Given the description of an element on the screen output the (x, y) to click on. 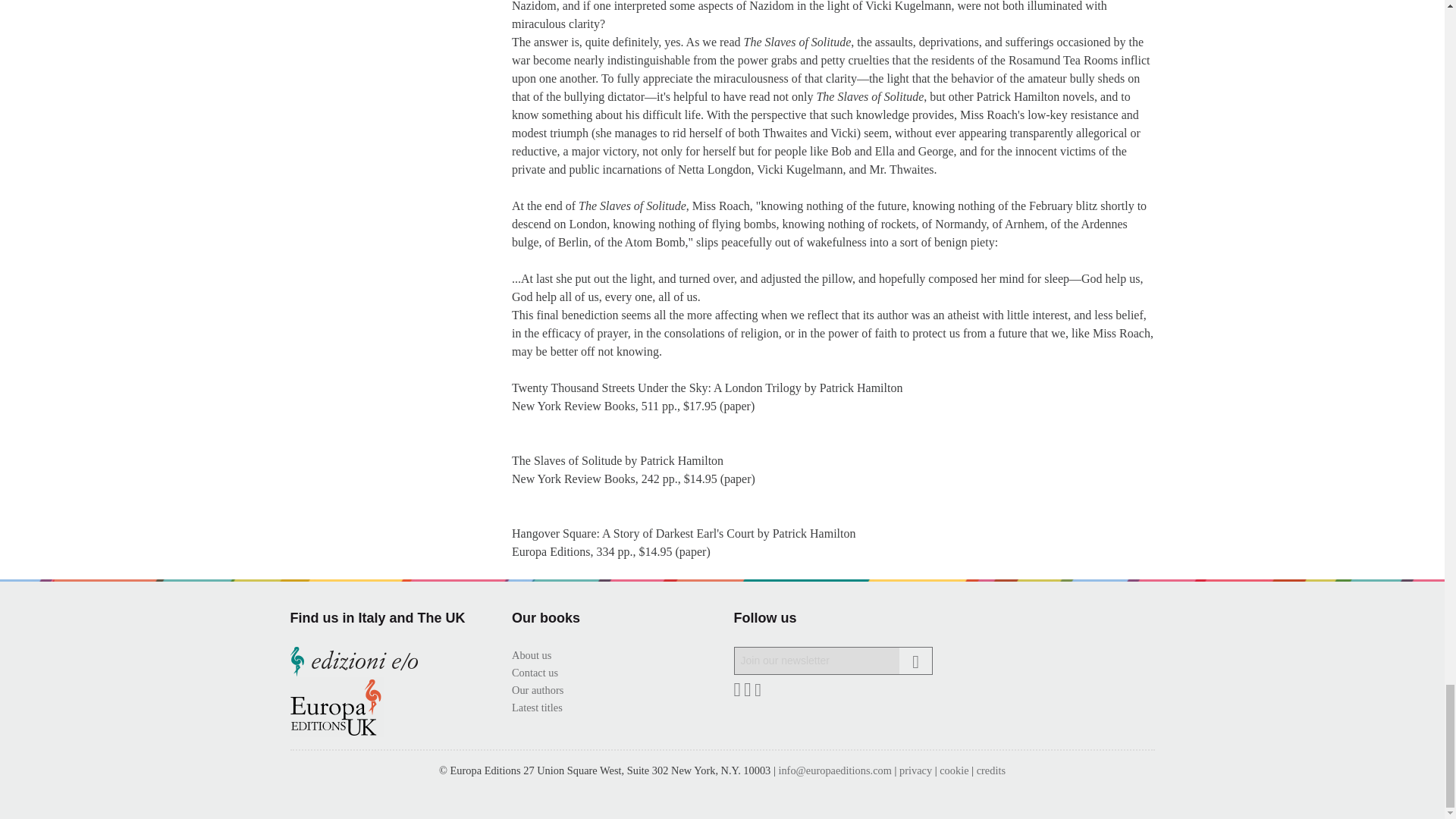
privacy (915, 770)
Privacy policy (915, 770)
Contact us (534, 672)
Our authors (537, 689)
About us (531, 654)
Cookie policy (953, 770)
Latest titles (537, 707)
